Given the description of an element on the screen output the (x, y) to click on. 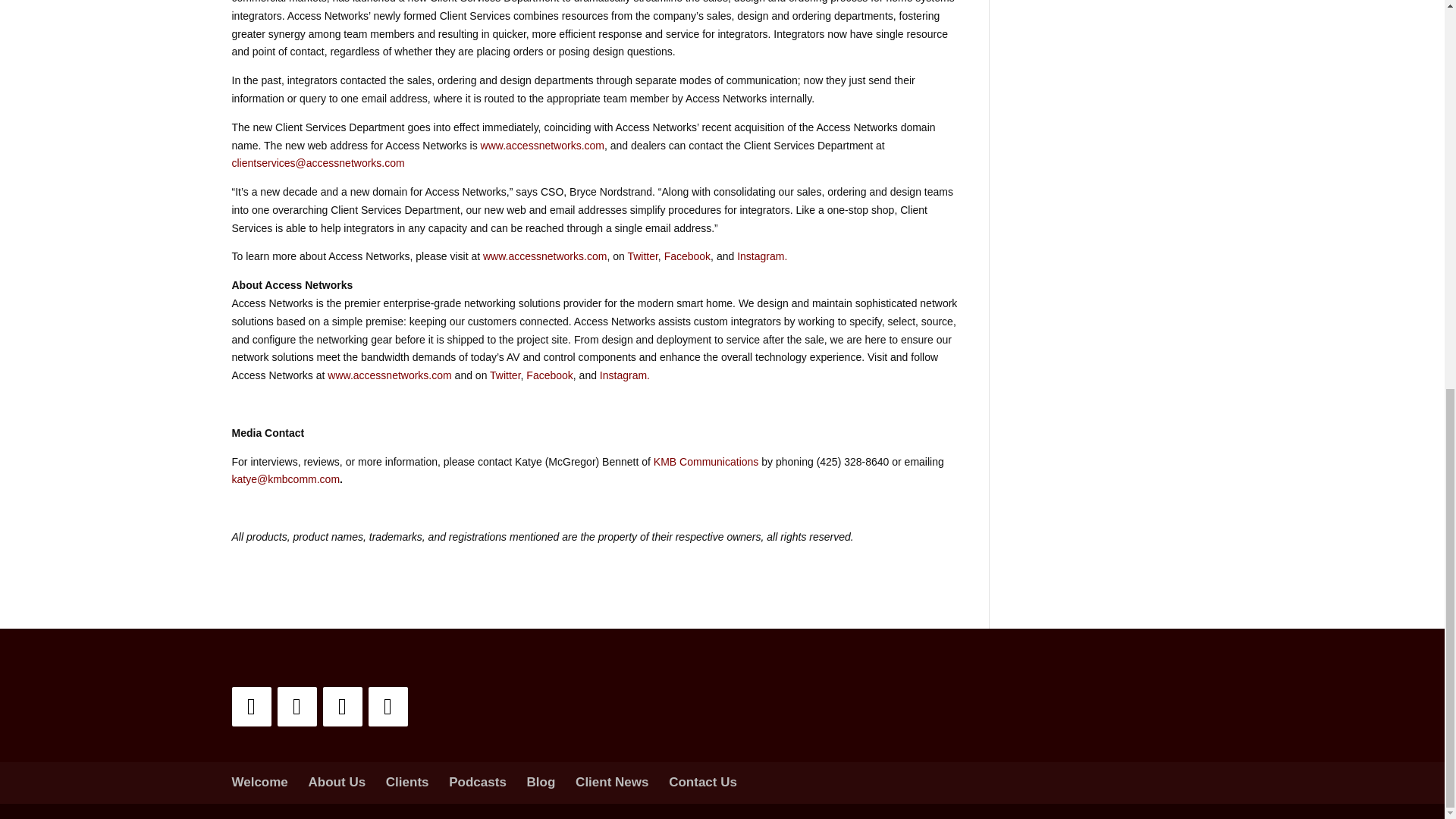
Instagram (387, 706)
www.accessnetworks.com (542, 144)
Facebook (297, 706)
Twitter (642, 256)
Instagram. (761, 256)
www.accessnetworks.com (545, 256)
www.accessnetworks.com (389, 375)
Facebook (686, 256)
LinkedIn (250, 706)
Twitter (342, 706)
